Given the description of an element on the screen output the (x, y) to click on. 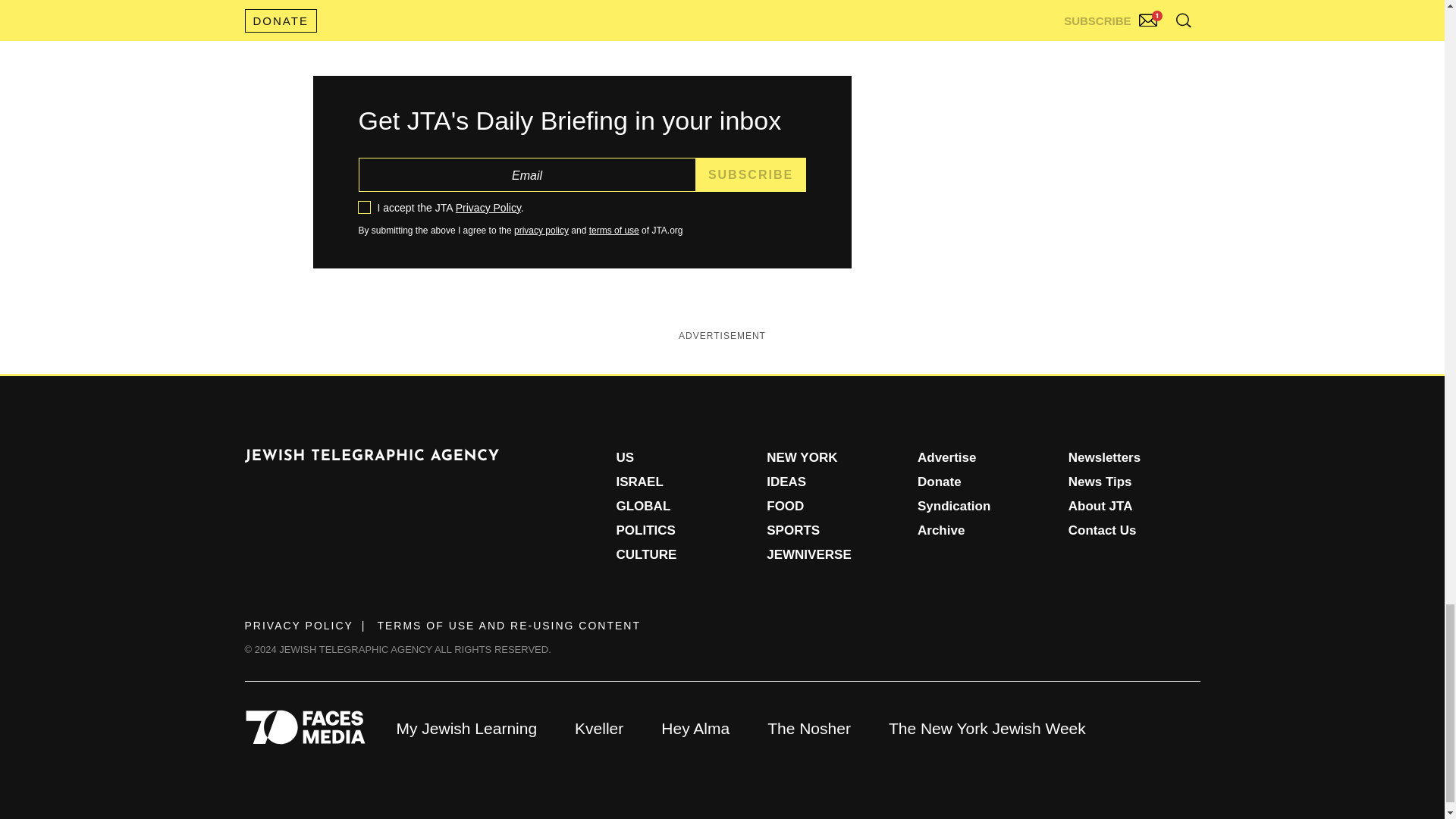
Subscribe (750, 174)
